Given the description of an element on the screen output the (x, y) to click on. 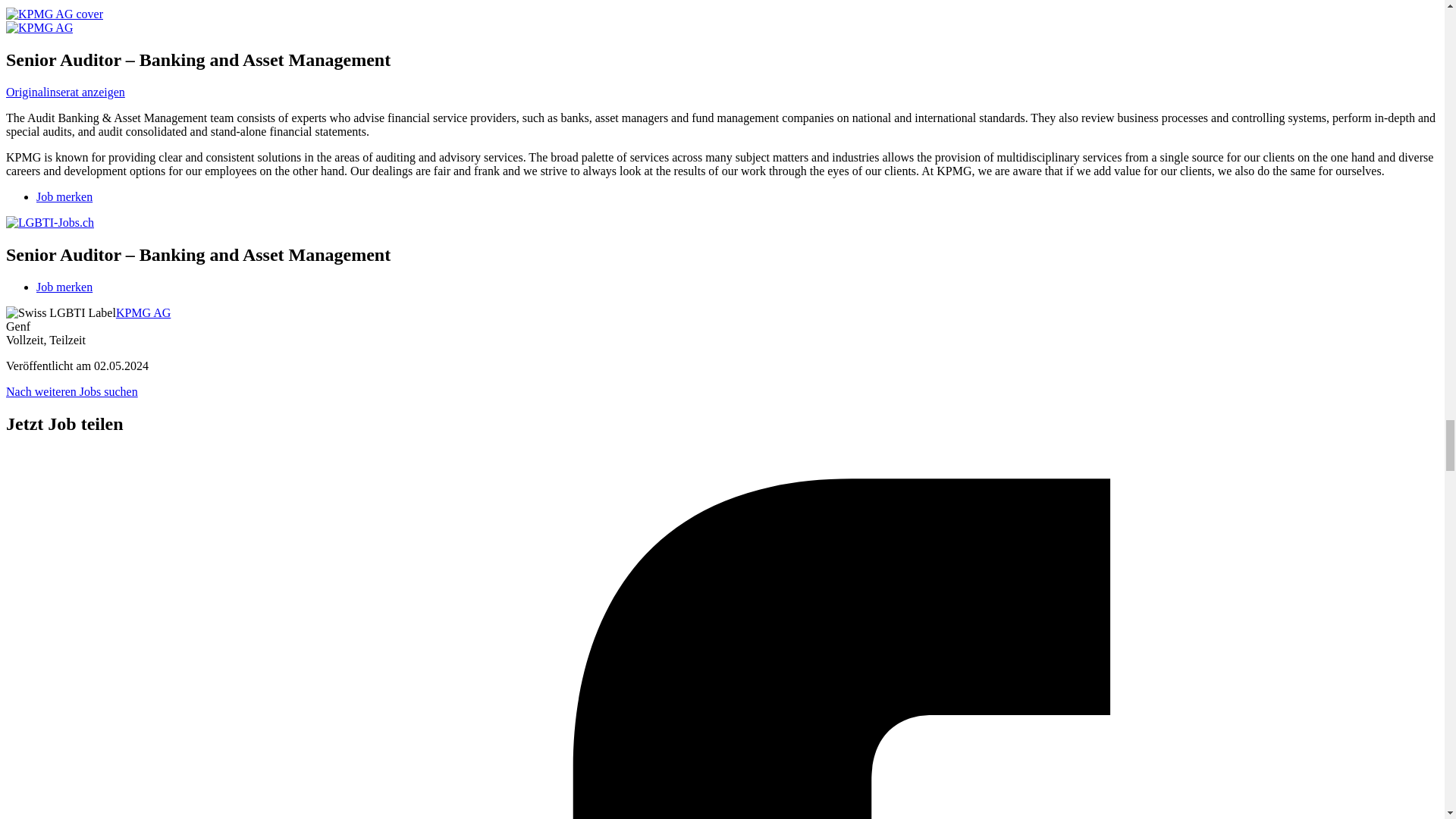
Job merken (64, 286)
KPMG AG (54, 14)
Nach weiteren Jobs suchen (71, 391)
KPMG AG (54, 13)
KPMG AG (143, 312)
Job merken (64, 196)
Originalinserat anzeigen (65, 91)
